Given the description of an element on the screen output the (x, y) to click on. 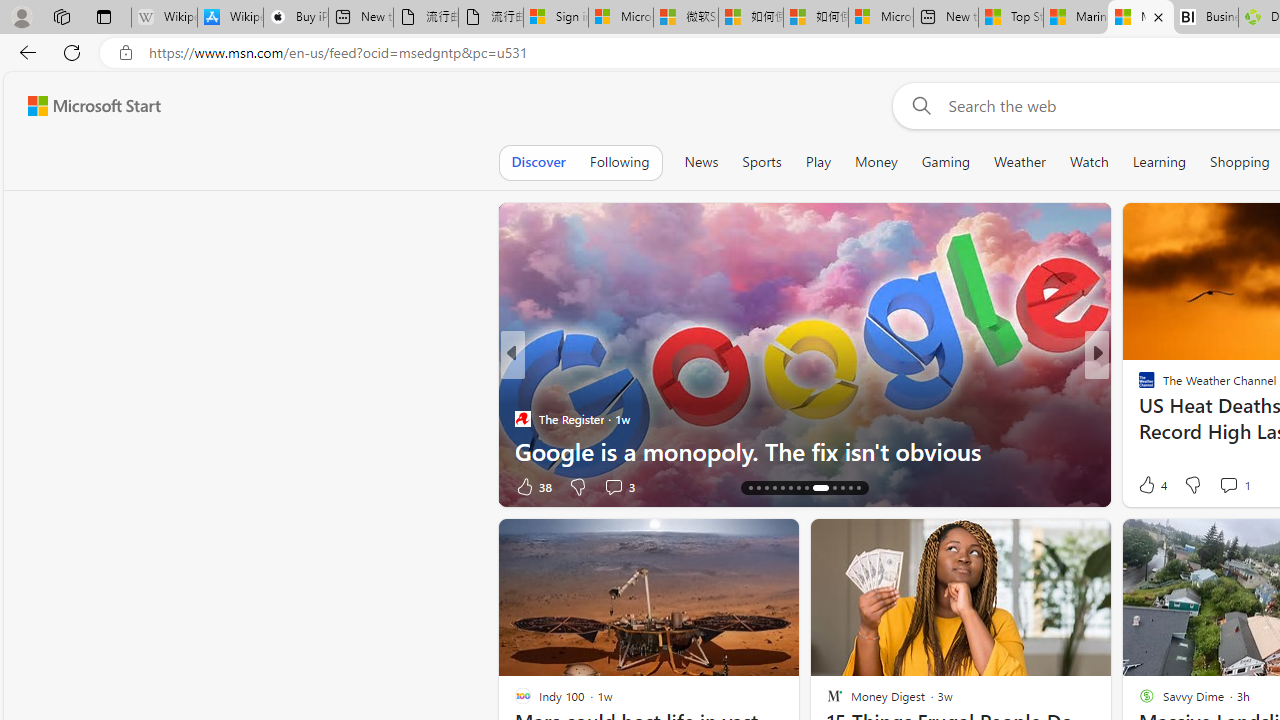
A Conscious Rethink (1138, 386)
AutomationID: tab-17 (774, 487)
BBC (1138, 386)
AutomationID: tab-22 (817, 487)
115 Like (1151, 486)
AutomationID: tab-16 (765, 487)
This story is trending (449, 490)
